Given the description of an element on the screen output the (x, y) to click on. 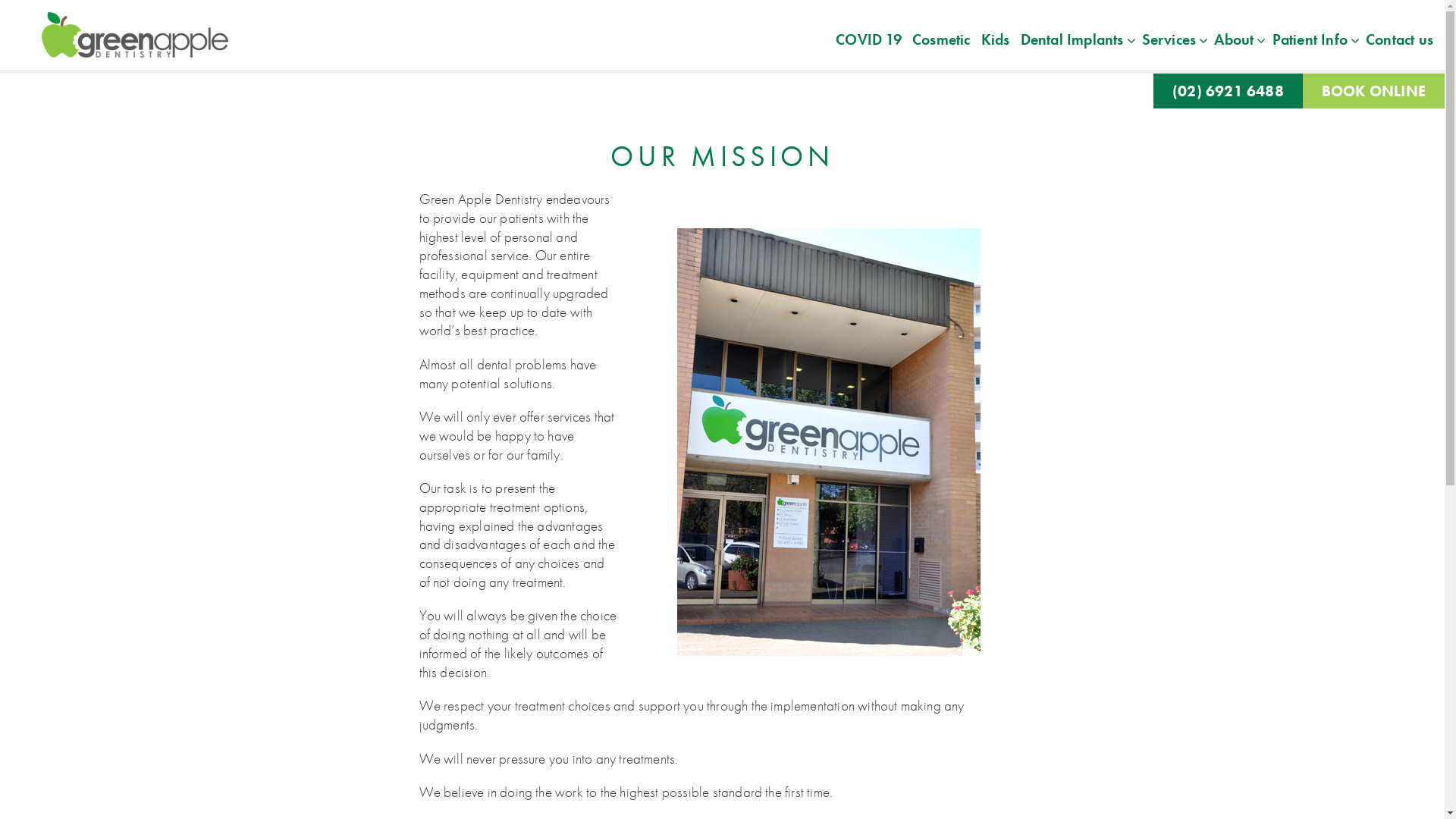
Services Element type: text (1167, 37)
Dental Implants Element type: text (1069, 37)
Kids Element type: text (995, 37)
Contact us Element type: text (1399, 37)
(02) 6921 6488 Element type: text (1227, 90)
Cosmetic Element type: text (941, 37)
Patient Info Element type: text (1307, 37)
About Element type: text (1231, 37)
COVID 19 Element type: text (868, 37)
BOOK ONLINE Element type: text (1373, 90)
